Given the description of an element on the screen output the (x, y) to click on. 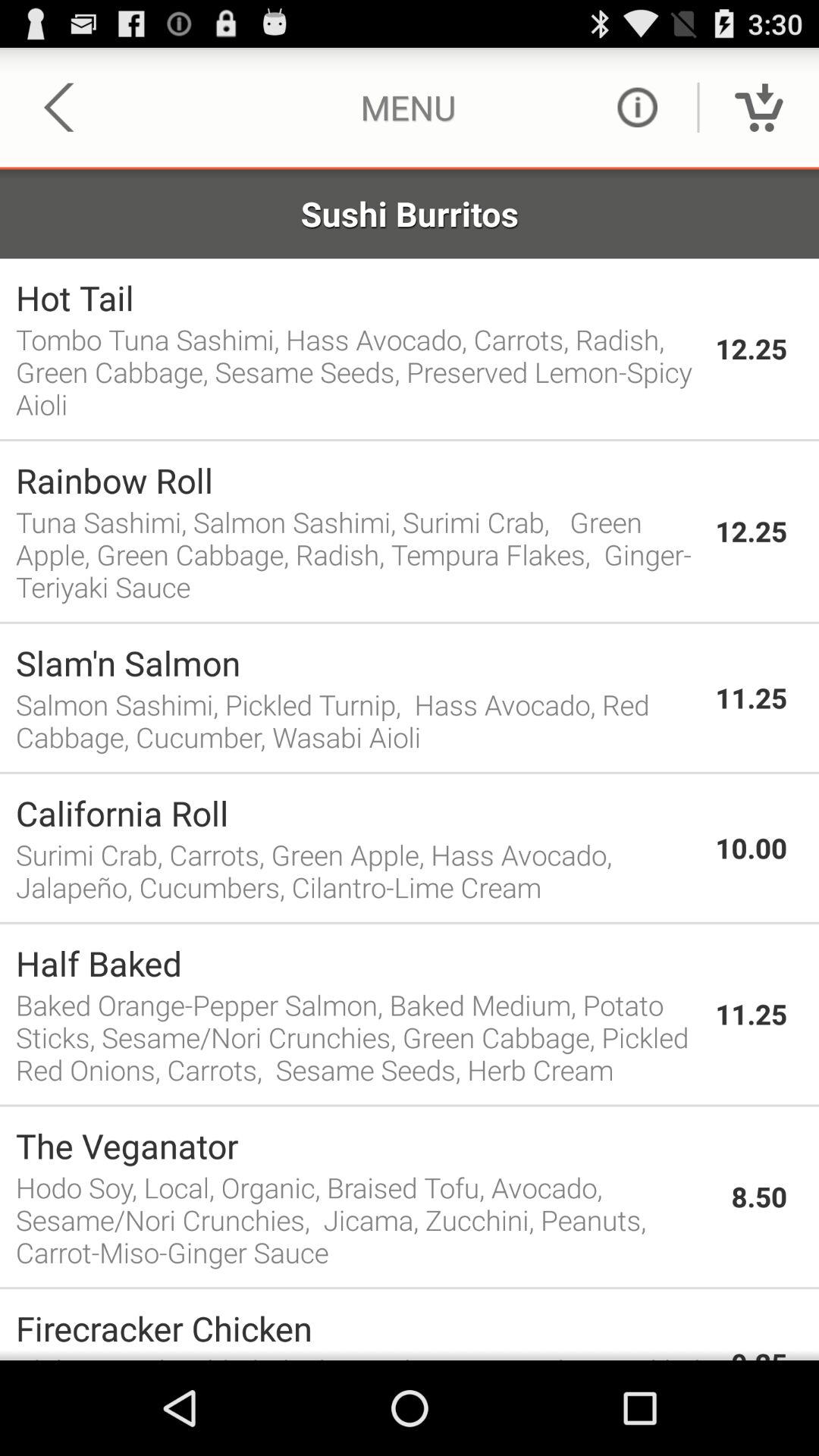
choose the icon above baked orange pepper icon (357, 963)
